Given the description of an element on the screen output the (x, y) to click on. 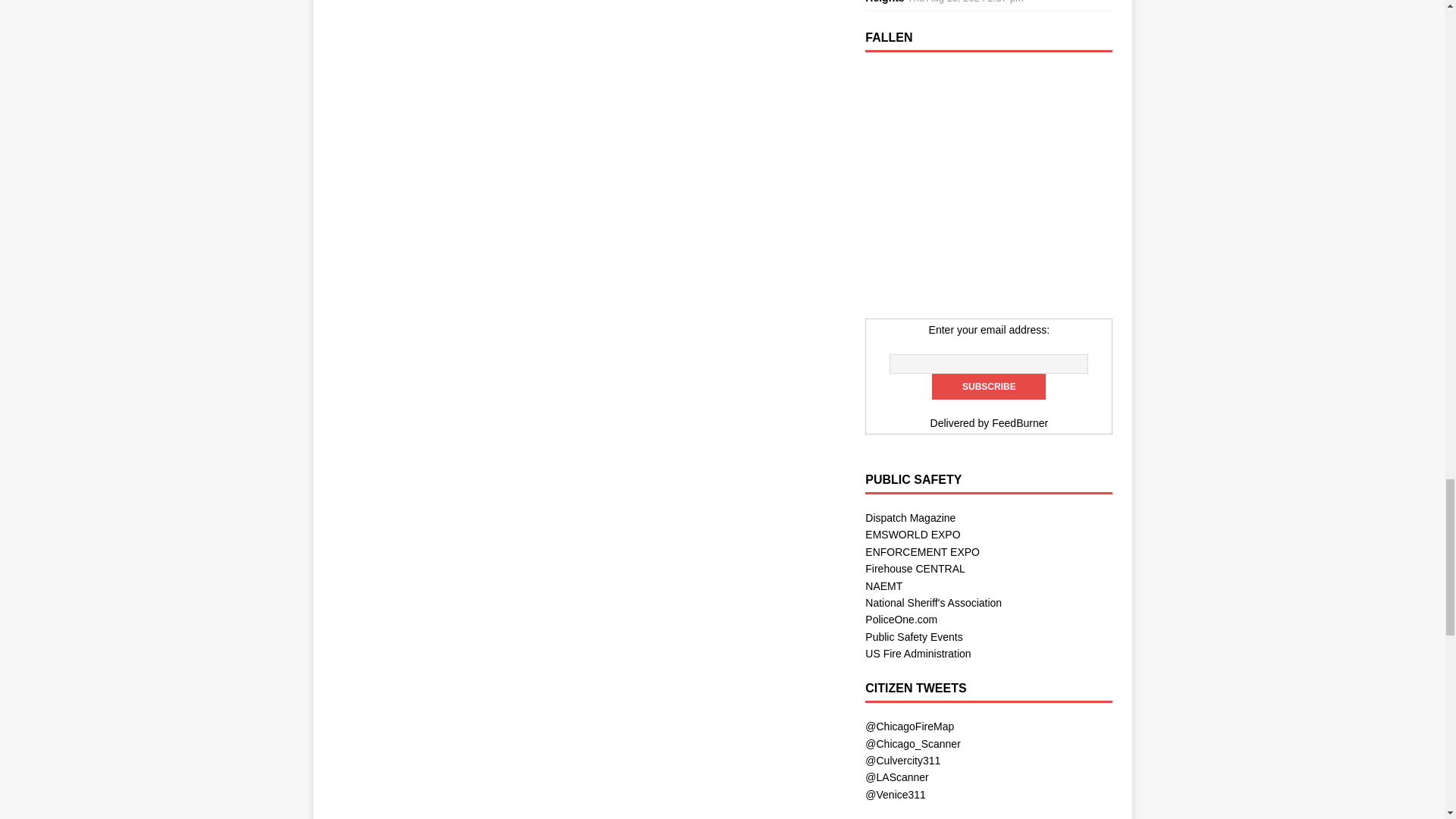
Monitoring the crime and shootings in Chicago. (912, 743)
National leadership for fire and emergency services (917, 653)
Subscribe (988, 386)
